Given the description of an element on the screen output the (x, y) to click on. 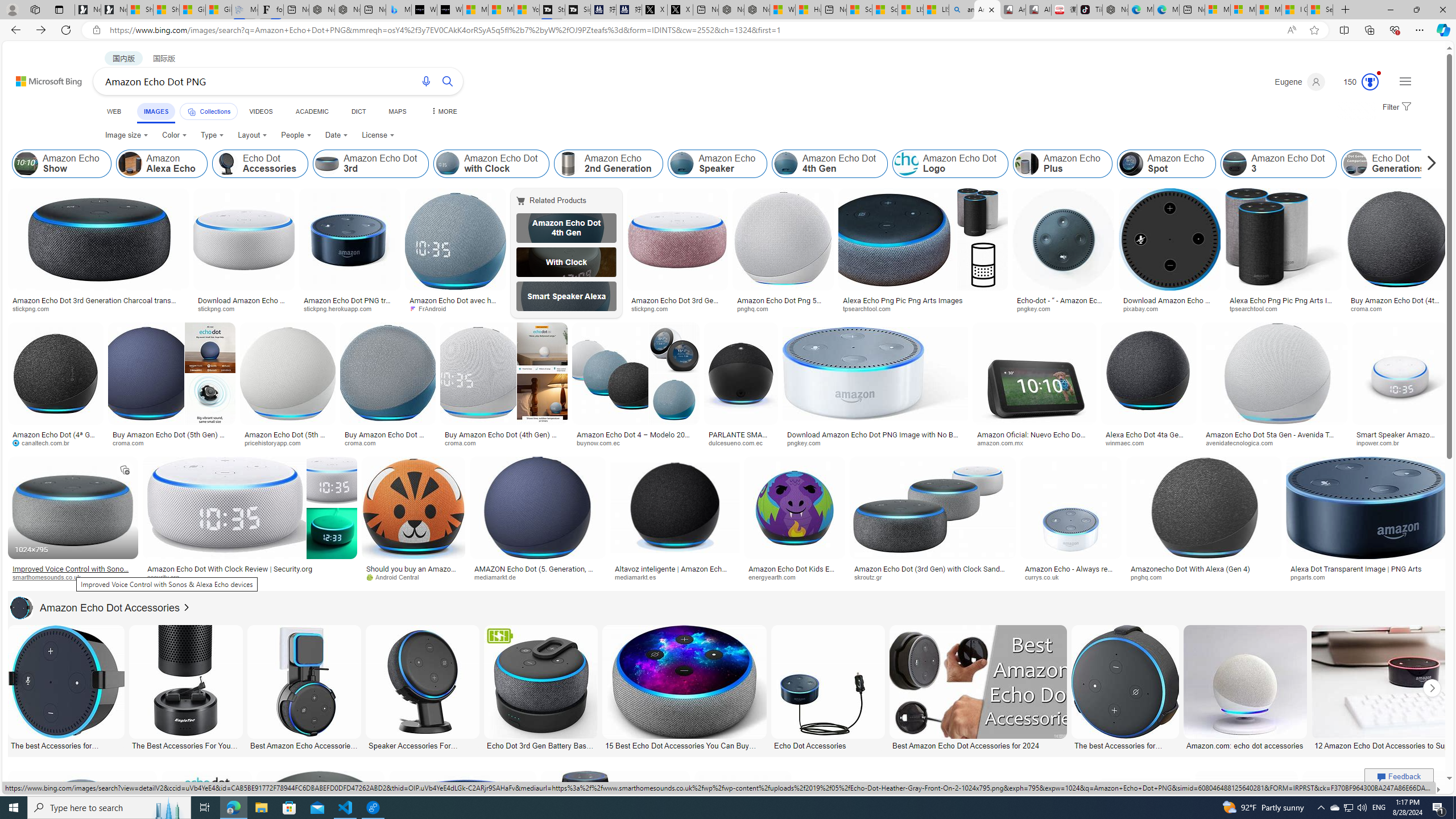
Gilma and Hector both pose tropical trouble for Hawaii (217, 9)
amazon.com.mx (1034, 442)
Amazon Echo Dot with Clock (447, 163)
pngarts.com (1366, 576)
Amazon Echo Spot (1130, 163)
Amazon.com: echo dot accessories (1245, 744)
Shanghai, China weather forecast | Microsoft Weather (166, 9)
